Given the description of an element on the screen output the (x, y) to click on. 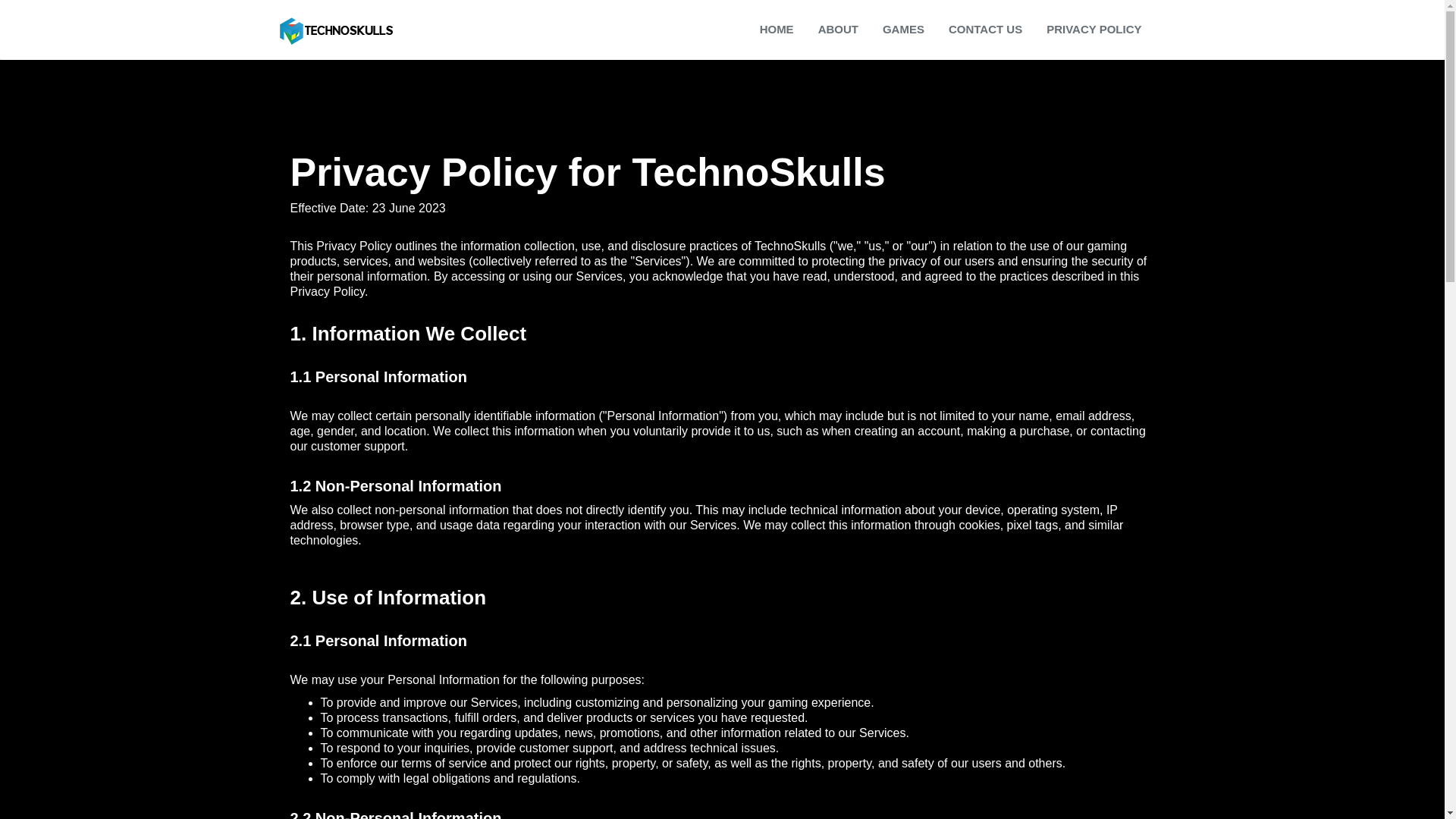
GAMES (903, 29)
ABOUT (837, 29)
PRIVACY POLICY (1094, 29)
ABOUT (837, 29)
HOME (776, 29)
PRIVACY POLICY (1094, 29)
CONTACT US (985, 29)
CONTACT US (985, 29)
GAMES (903, 29)
HOME (776, 29)
